Given the description of an element on the screen output the (x, y) to click on. 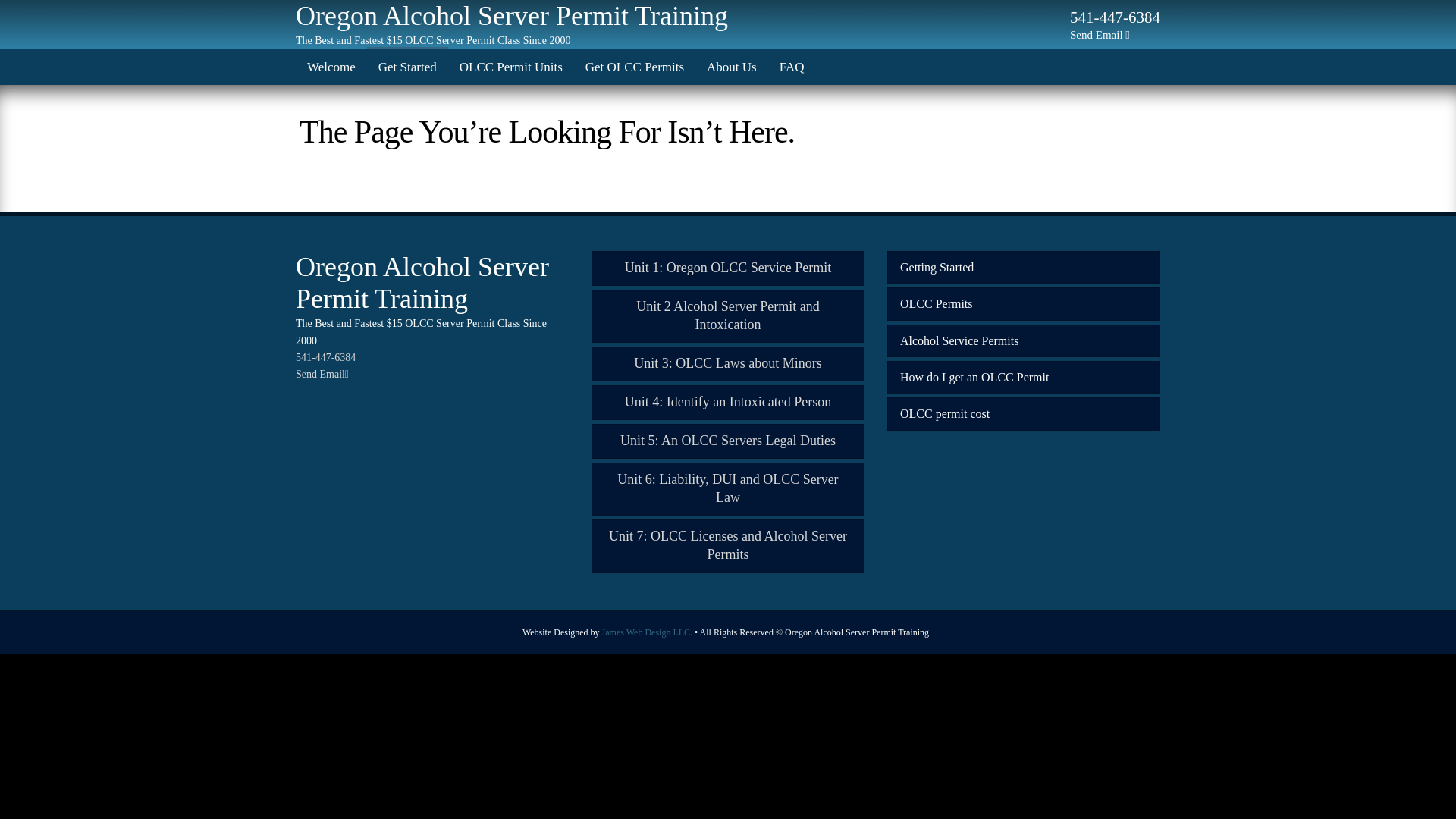
OLCC Permits (1023, 303)
How do I get an OLCC Permit (1023, 377)
541-447-6384 (1115, 23)
Unit 1: Oregon OLCC Service Permit (727, 267)
Send Email (322, 374)
About Us (731, 67)
Getting Started (1023, 266)
Get OLCC Permits (634, 67)
Alcohol Service Permits (1023, 340)
Get Started (407, 67)
